Given the description of an element on the screen output the (x, y) to click on. 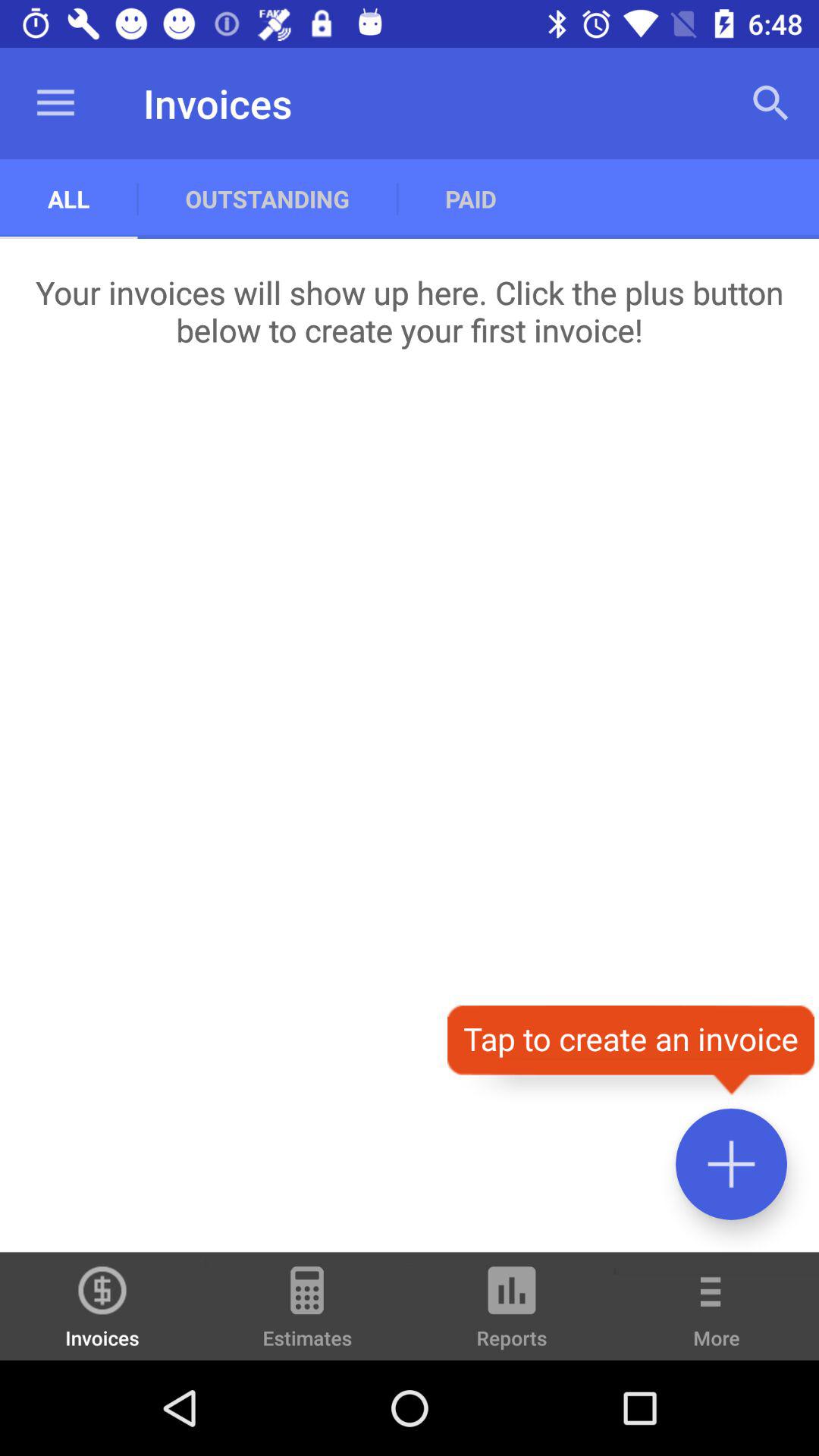
turn on the item above all item (55, 103)
